Given the description of an element on the screen output the (x, y) to click on. 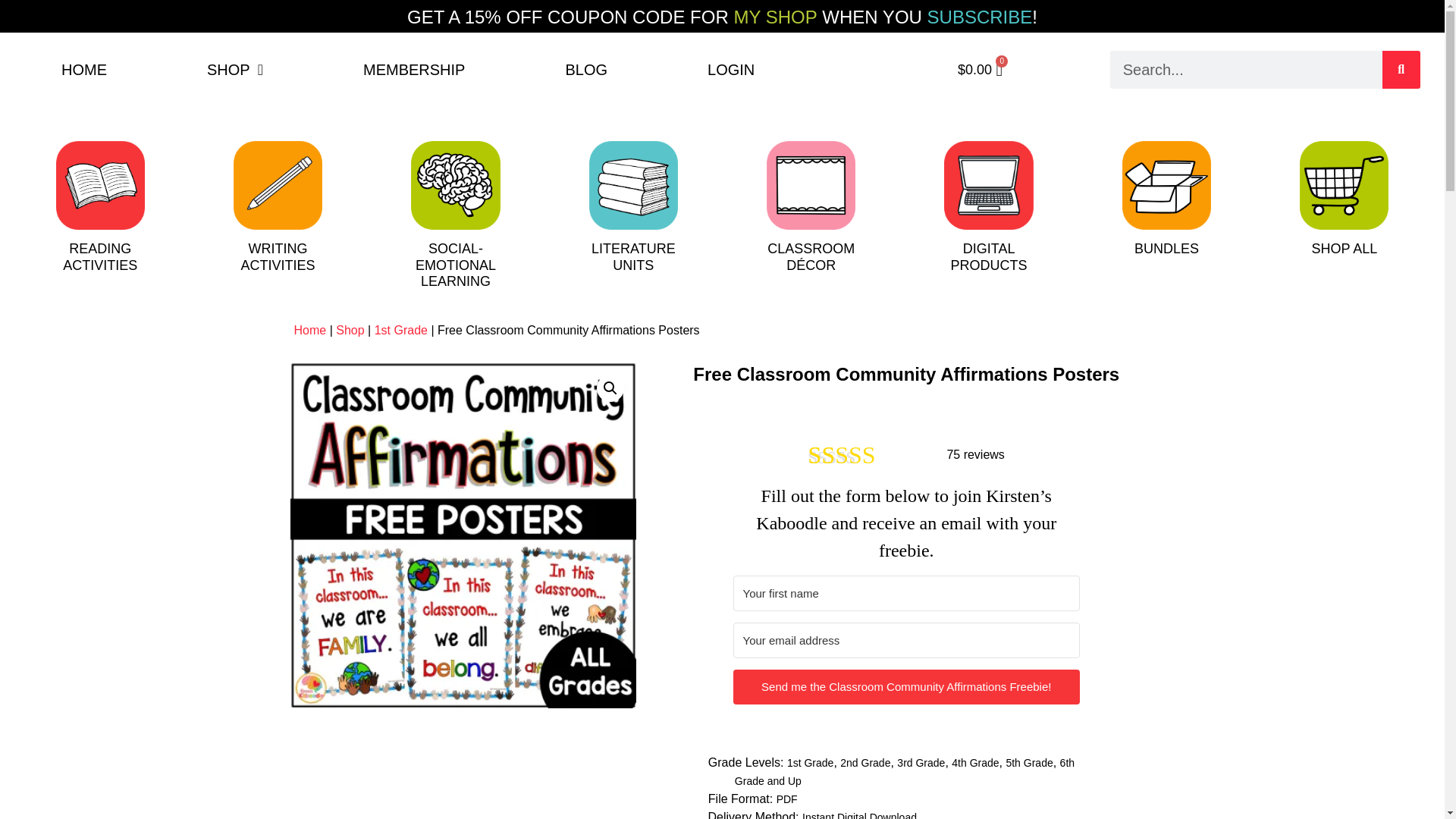
MEMBERSHIP (414, 69)
SHOP ALL (99, 256)
HOME (1344, 248)
BLOG (84, 69)
BUNDLES (988, 256)
classroom-community-affirmations-free (586, 69)
Shop (1166, 248)
SUBSCRIBE (461, 535)
LOGIN (633, 256)
1st Grade (350, 329)
SHOP (278, 256)
